Given the description of an element on the screen output the (x, y) to click on. 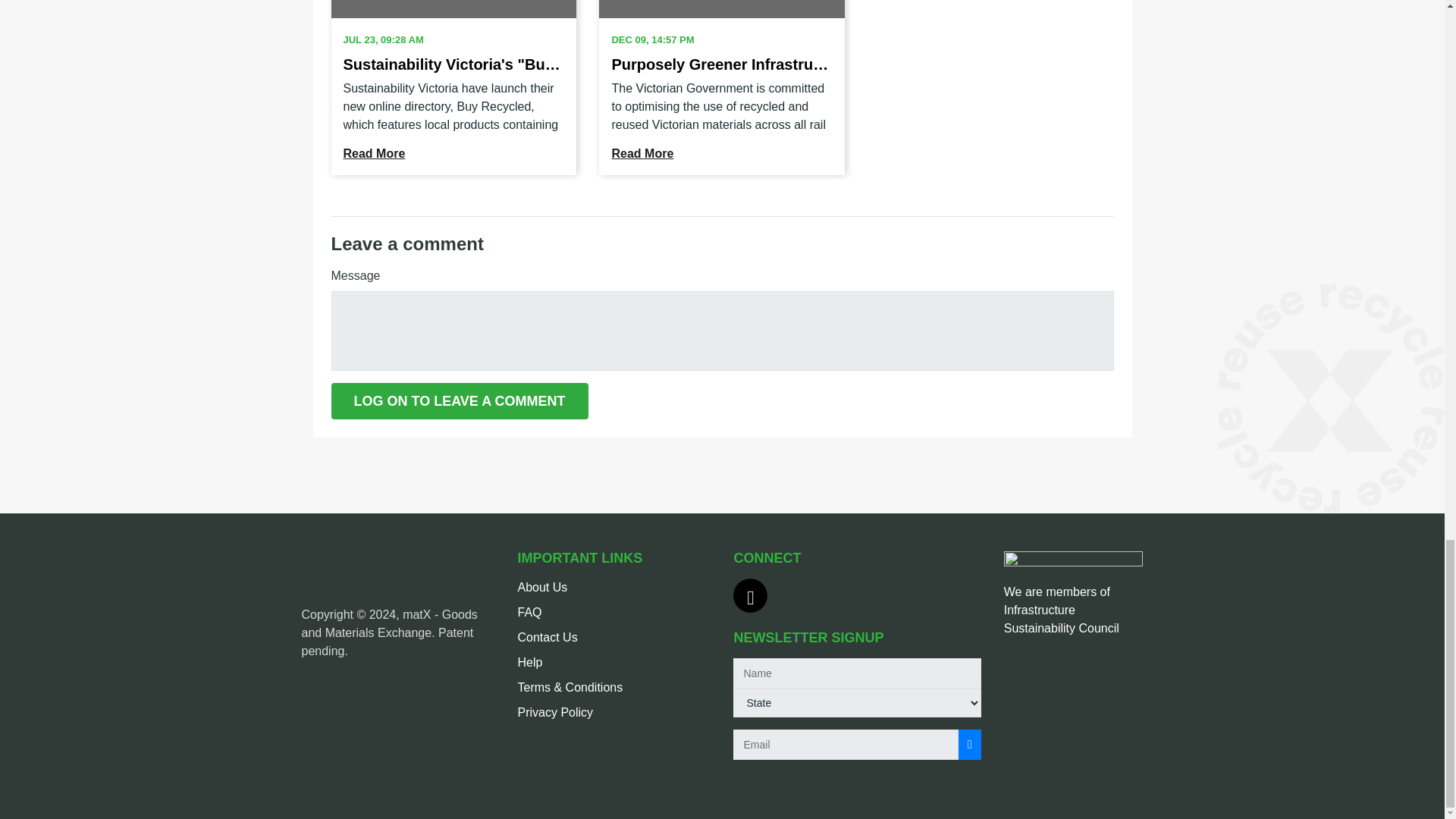
Help (528, 662)
Privacy Policy (554, 712)
Read More (373, 153)
LOG ON TO LEAVE A COMMENT (459, 401)
Read More (641, 153)
About Us (541, 586)
Contact Us (546, 636)
FAQ (528, 612)
